Given the description of an element on the screen output the (x, y) to click on. 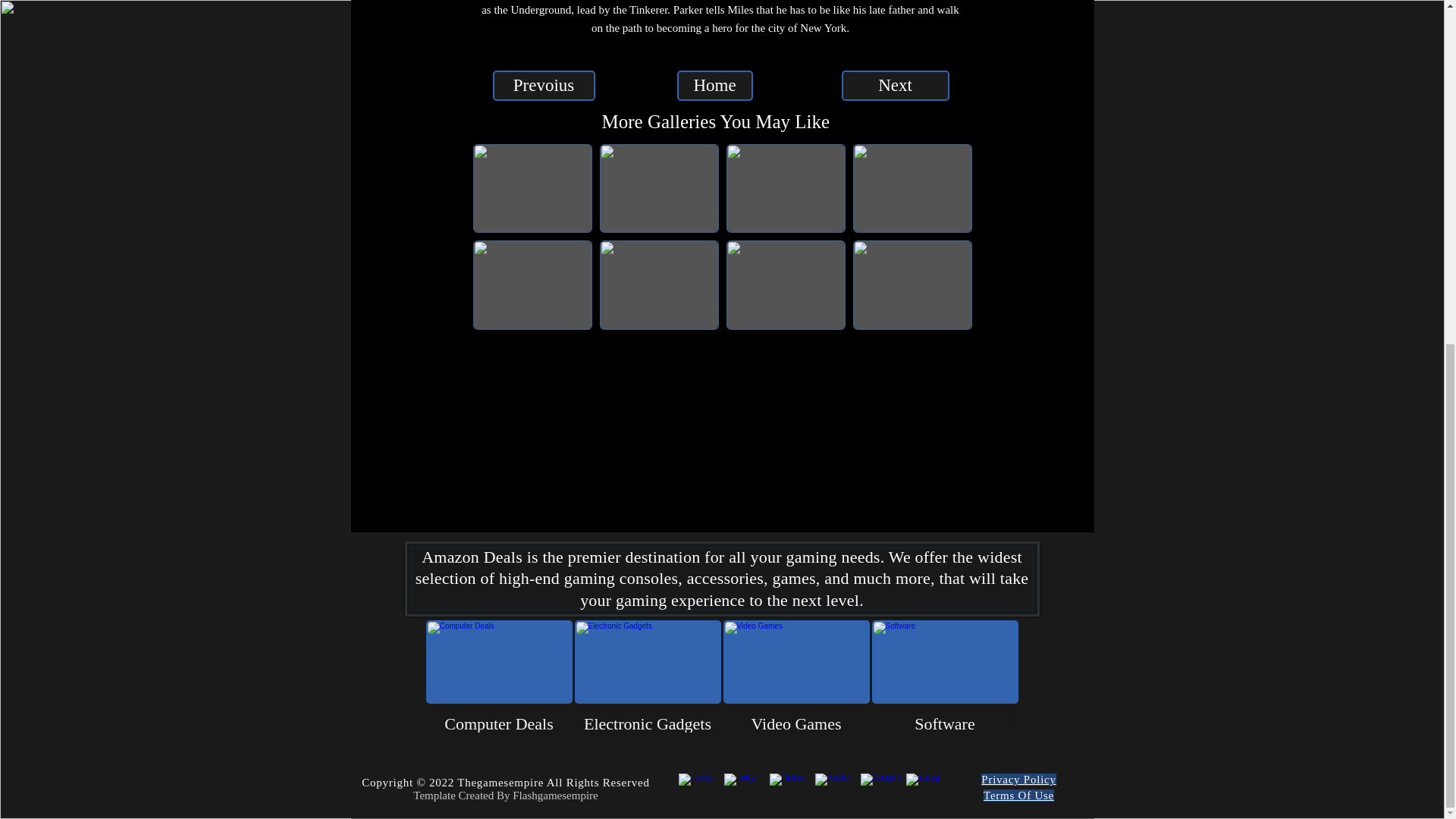
Video Games (796, 678)
Next (895, 85)
Software (944, 678)
Home (714, 85)
Computer Deals (499, 678)
Prevoius (544, 85)
Electronic Gadgets (647, 678)
Terms Of Use (1019, 795)
Privacy Policy (1018, 779)
